Given the description of an element on the screen output the (x, y) to click on. 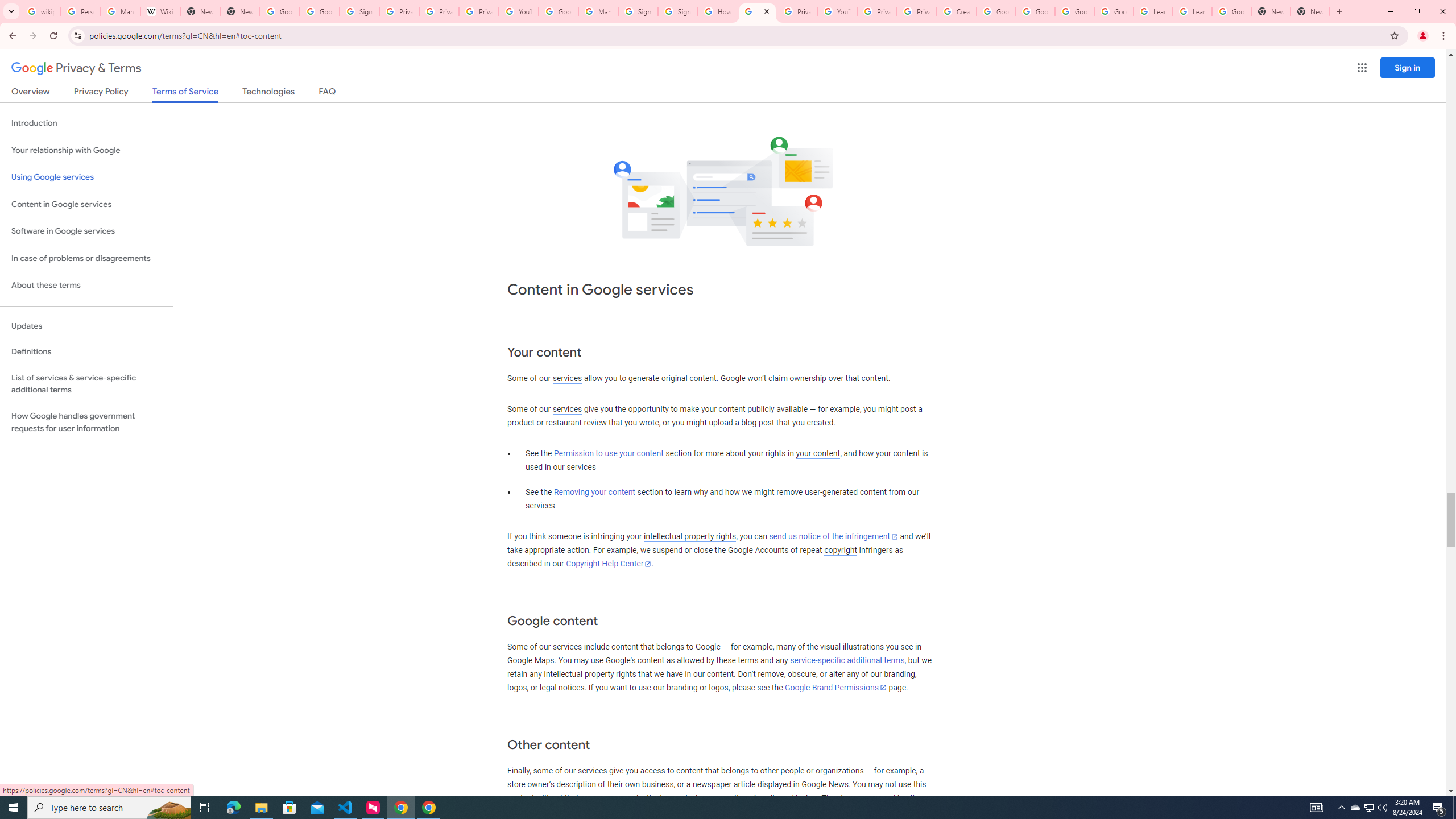
How Google handles government requests for user information (86, 422)
organizations (839, 770)
intellectual property rights (689, 536)
Google Account Help (995, 11)
In case of problems or disagreements (86, 258)
New Tab (239, 11)
Removing your content (593, 492)
Sign in - Google Accounts (359, 11)
Wikipedia:Edit requests - Wikipedia (159, 11)
